Given the description of an element on the screen output the (x, y) to click on. 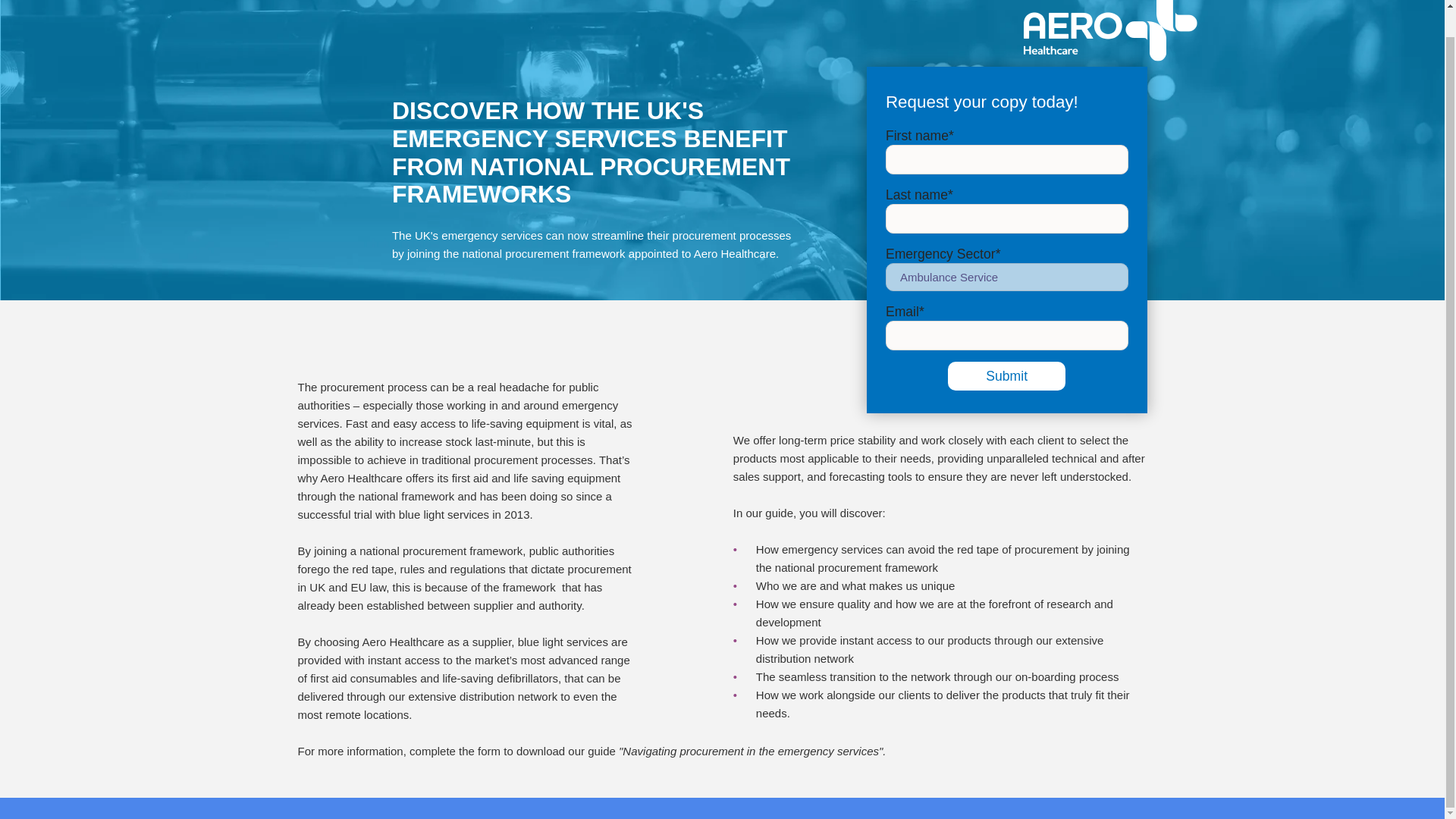
Submit (1006, 375)
Submit (1006, 375)
